Given the description of an element on the screen output the (x, y) to click on. 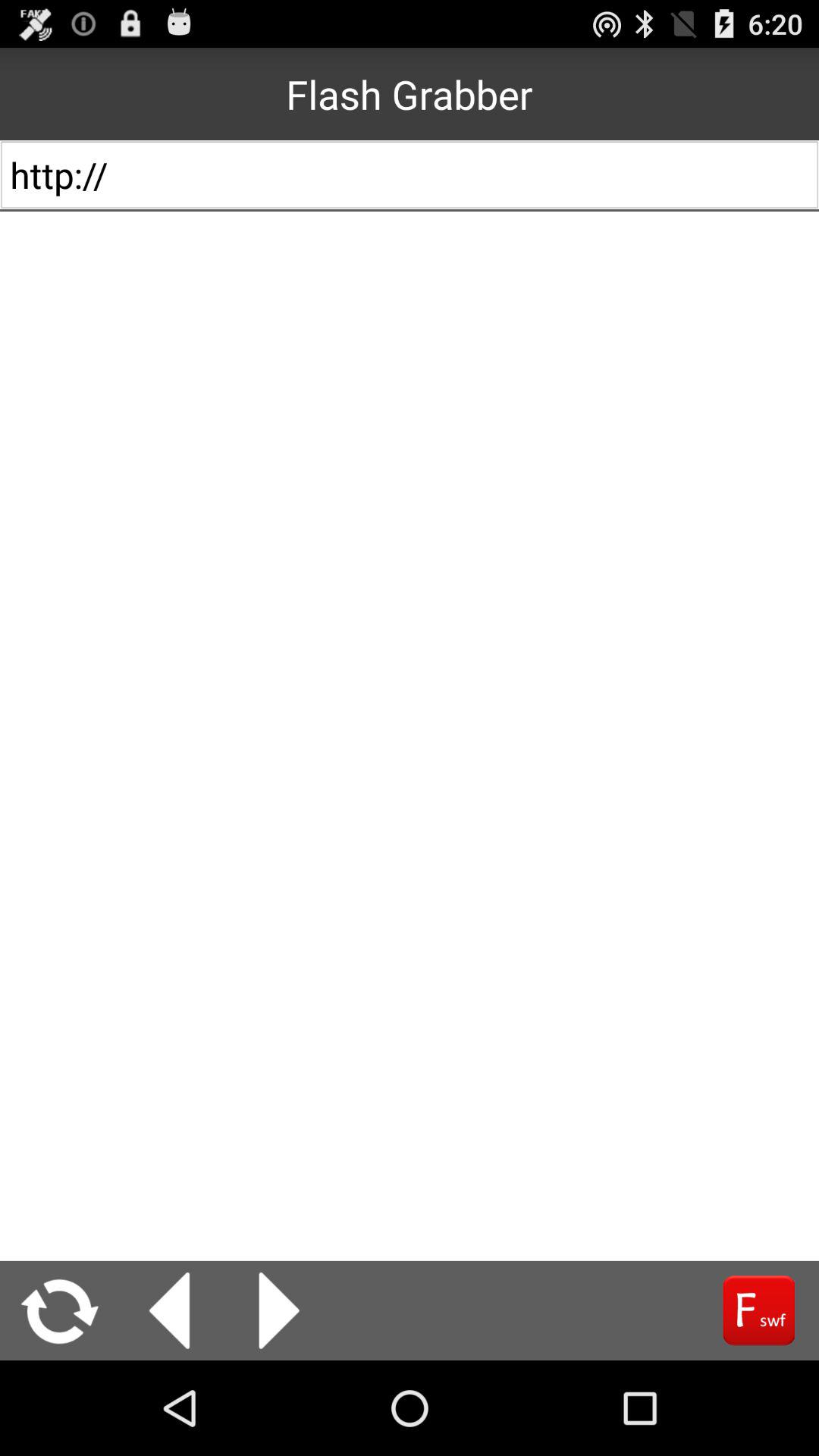
go next (279, 1310)
